Given the description of an element on the screen output the (x, y) to click on. 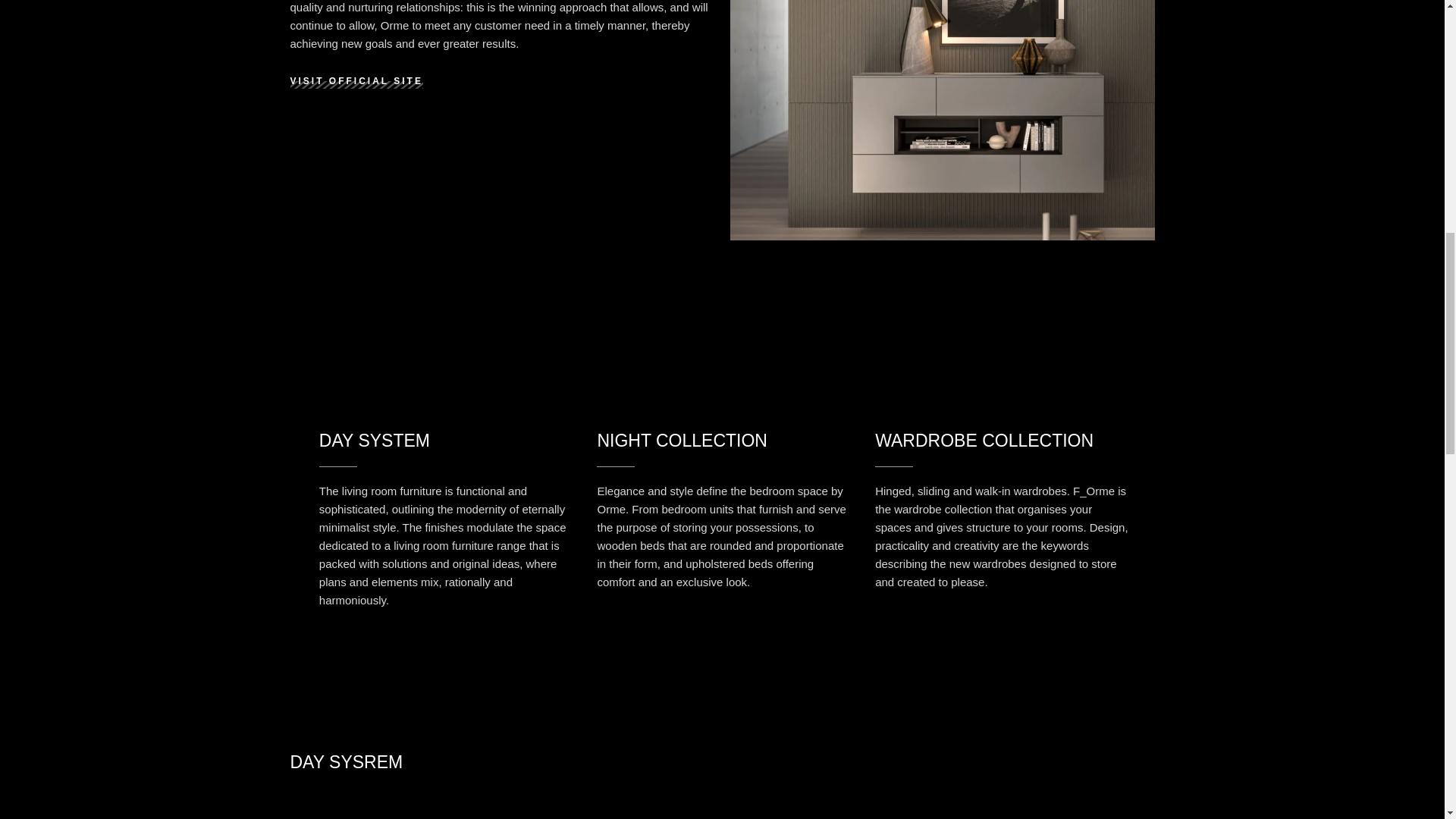
VISIT OFFICIAL SITE (355, 80)
